Given the description of an element on the screen output the (x, y) to click on. 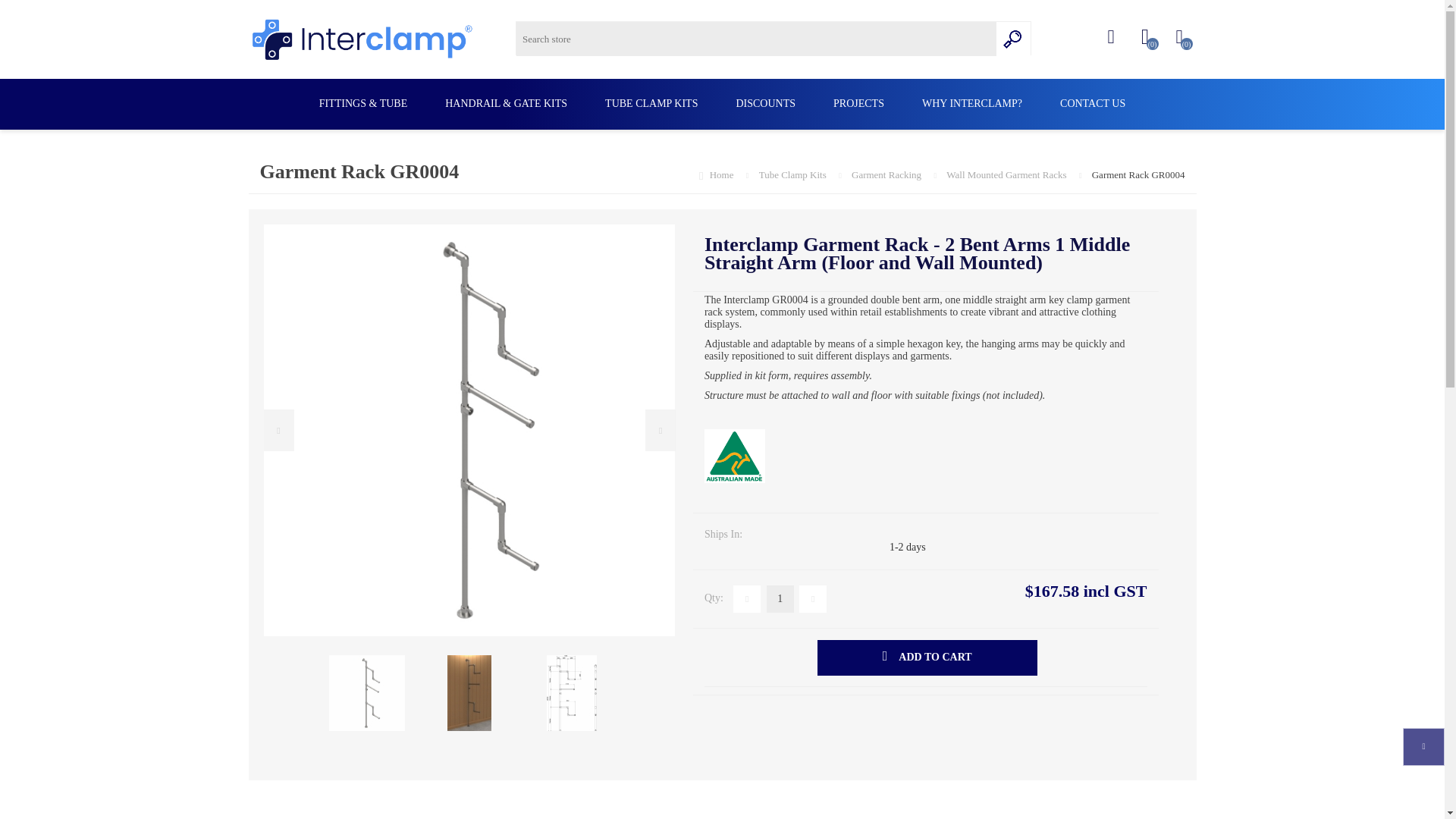
1 (780, 598)
Shopping cart (1178, 37)
TUBE CLAMP KITS (651, 103)
Search (1012, 39)
